Given the description of an element on the screen output the (x, y) to click on. 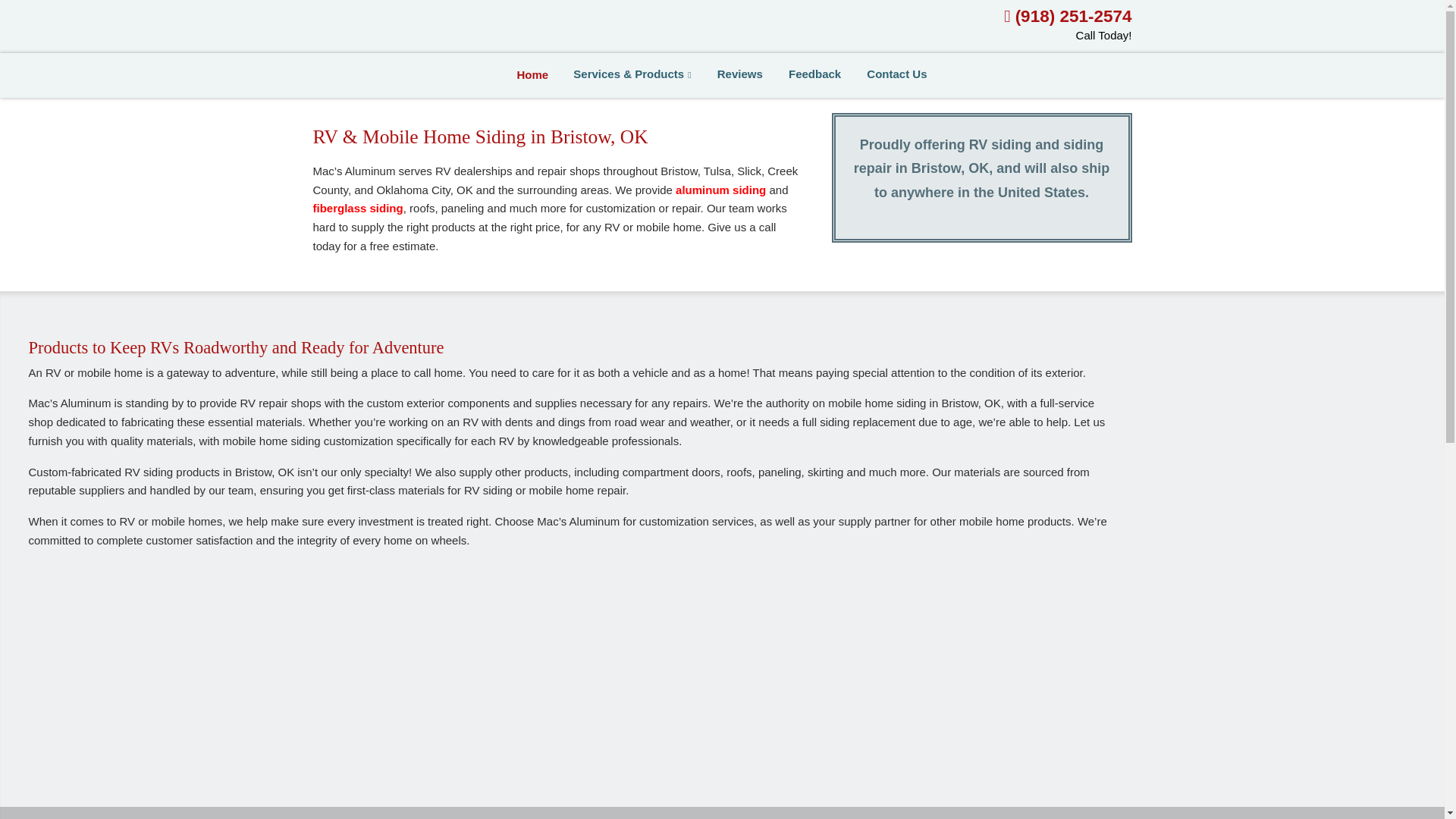
fiberglass siding (358, 207)
Reviews (740, 73)
Home (532, 74)
Feedback (814, 73)
Contact Us (896, 73)
aluminum siding (720, 189)
